Given the description of an element on the screen output the (x, y) to click on. 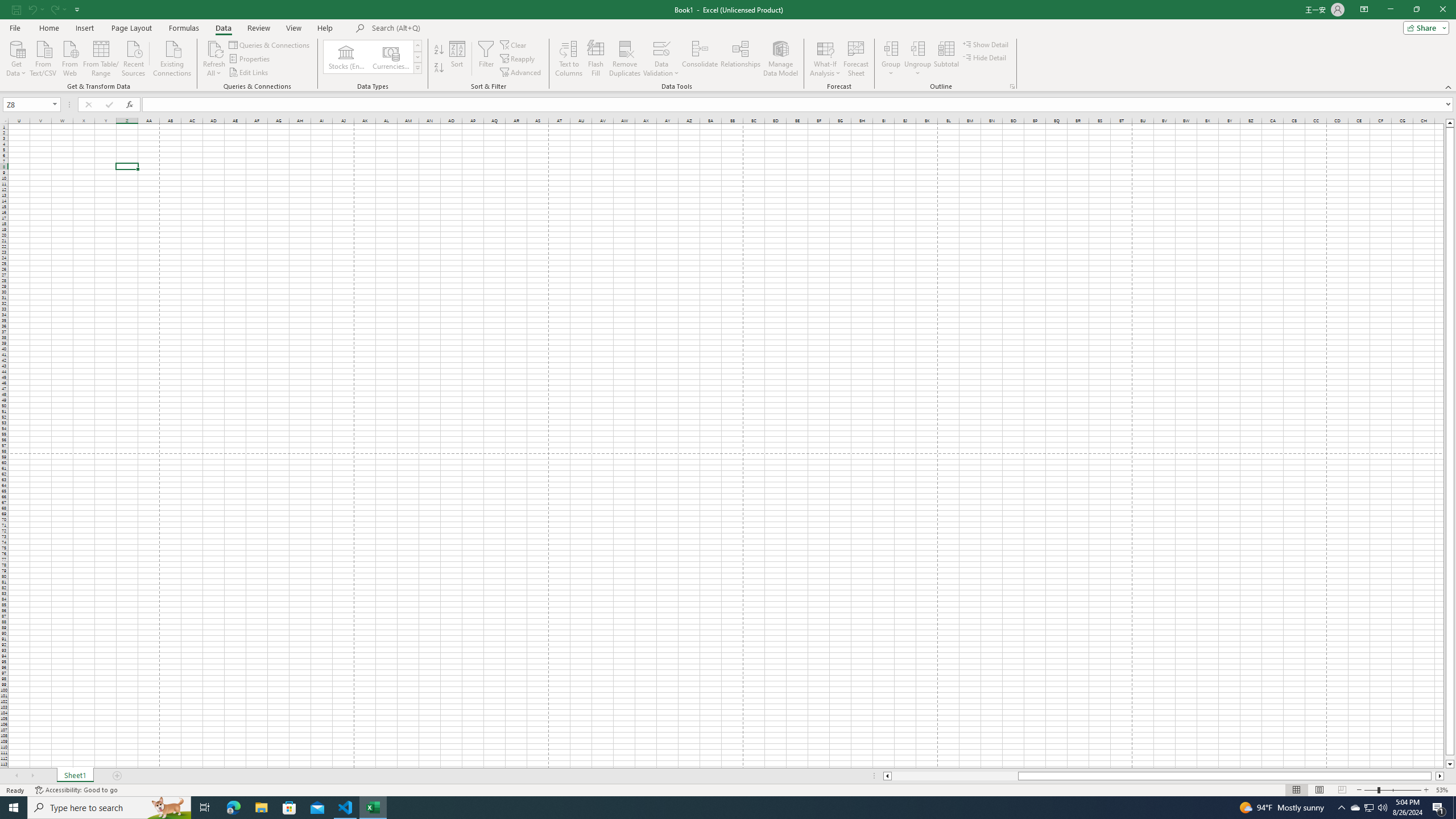
Microsoft search (450, 28)
Hide Detail (985, 56)
From Web (69, 57)
Remove Duplicates (625, 58)
